Given the description of an element on the screen output the (x, y) to click on. 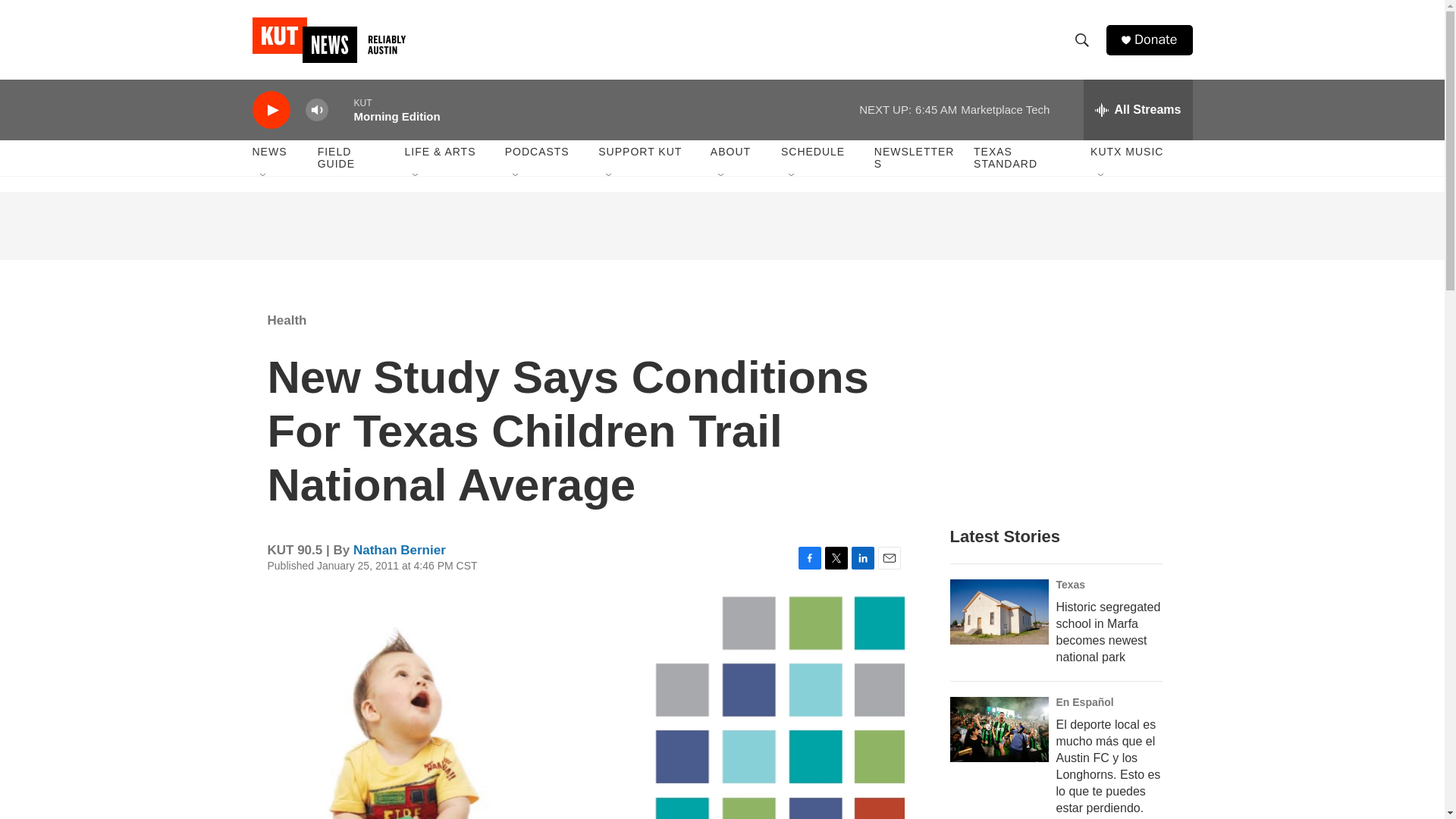
3rd party ad content (365, 400)
3rd party ad content (722, 225)
